Given the description of an element on the screen output the (x, y) to click on. 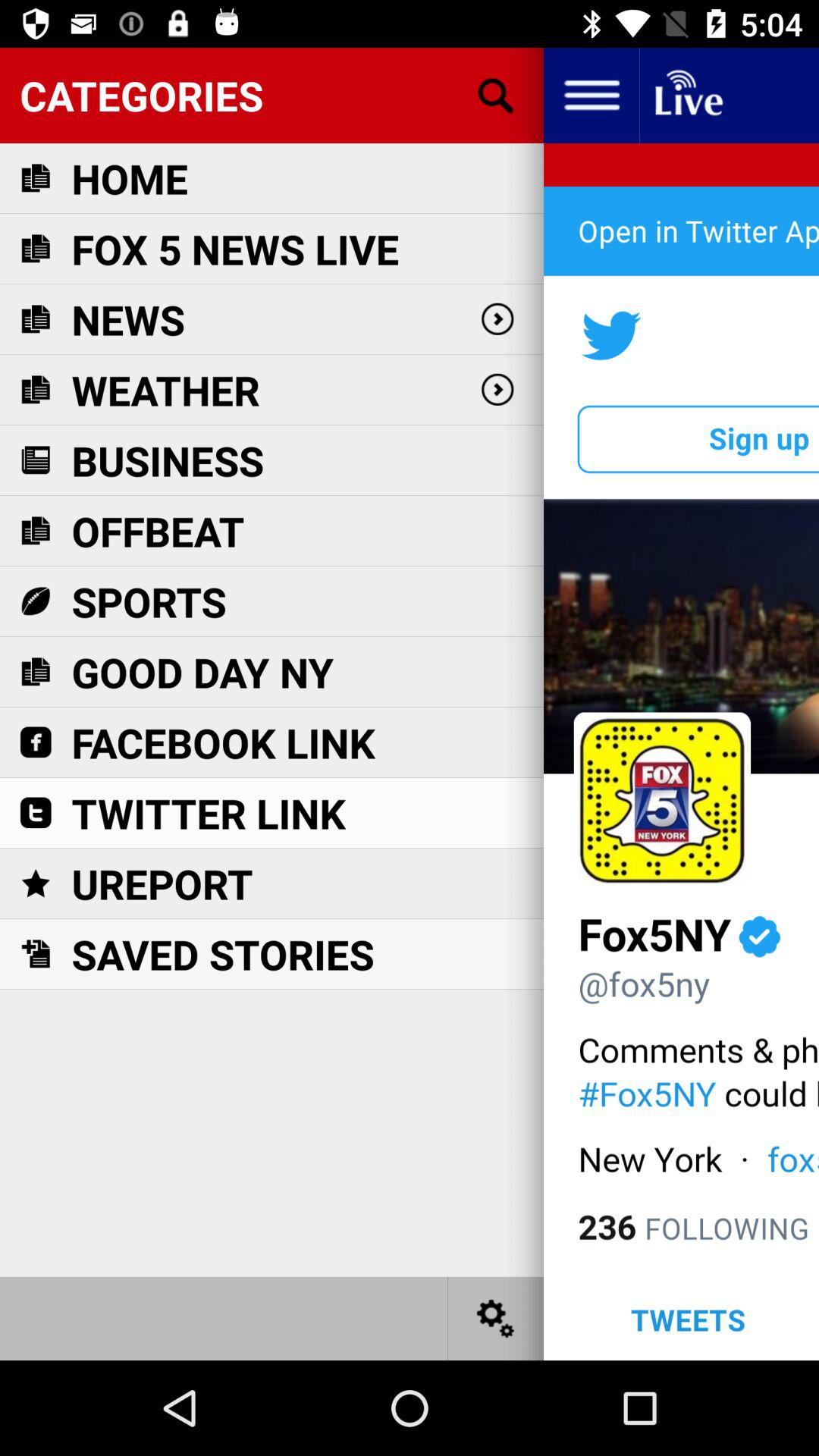
toggle settings option (495, 1318)
